Given the description of an element on the screen output the (x, y) to click on. 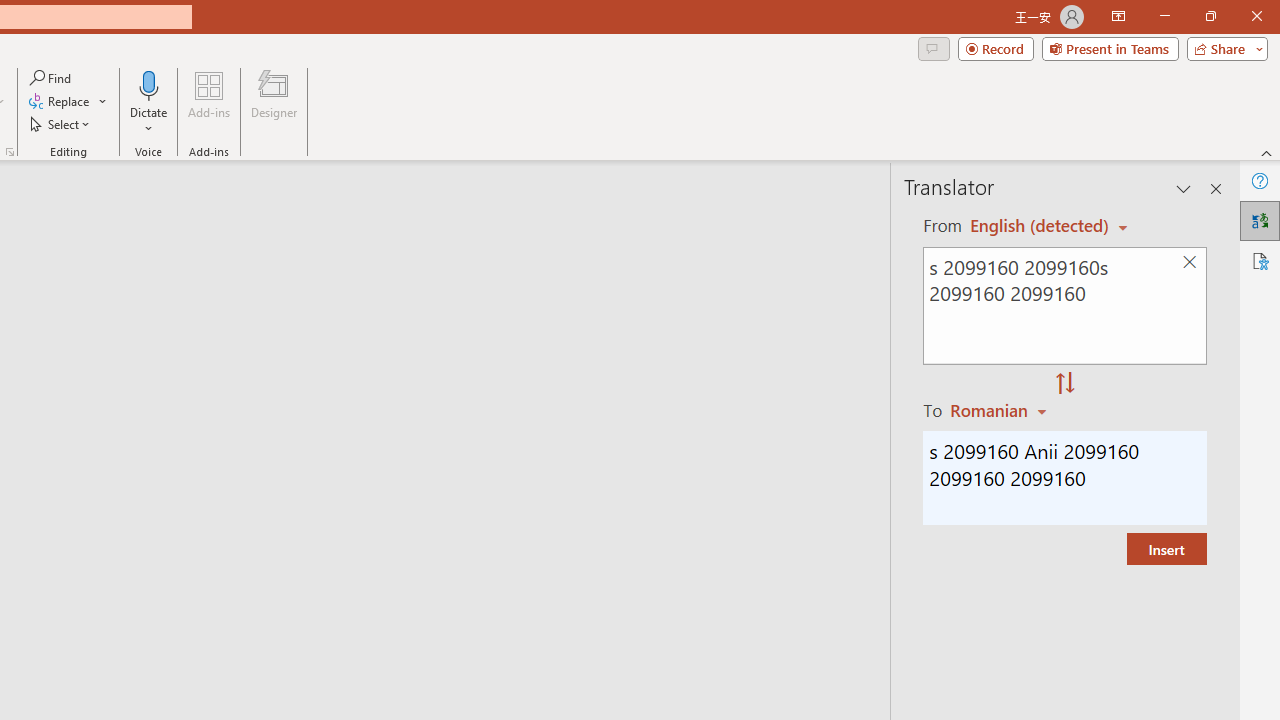
Romanian (1001, 409)
Swap "from" and "to" languages. (1065, 383)
